Given the description of an element on the screen output the (x, y) to click on. 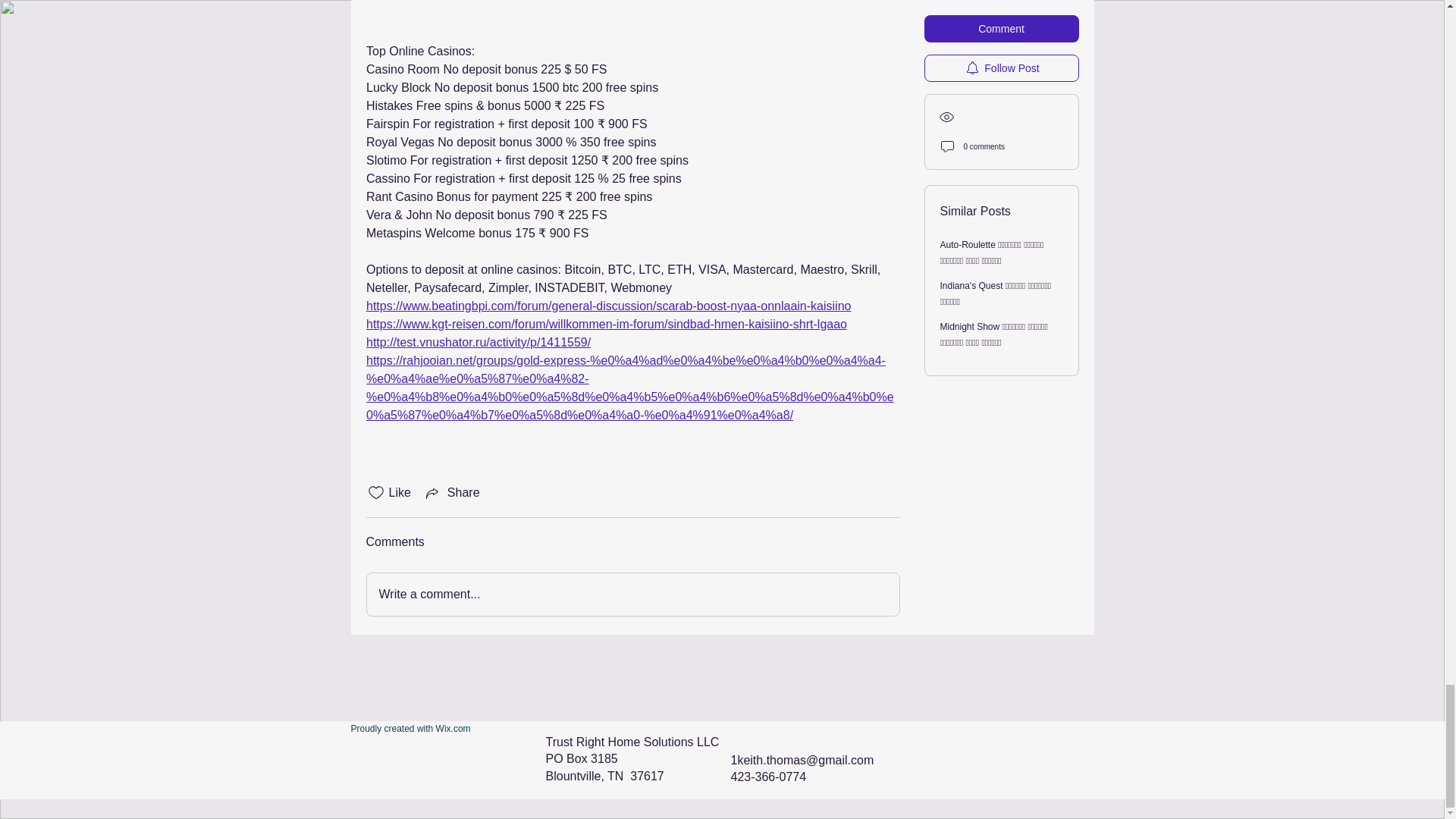
Wix.com (452, 728)
Write a comment... (632, 594)
Share (451, 493)
